Given the description of an element on the screen output the (x, y) to click on. 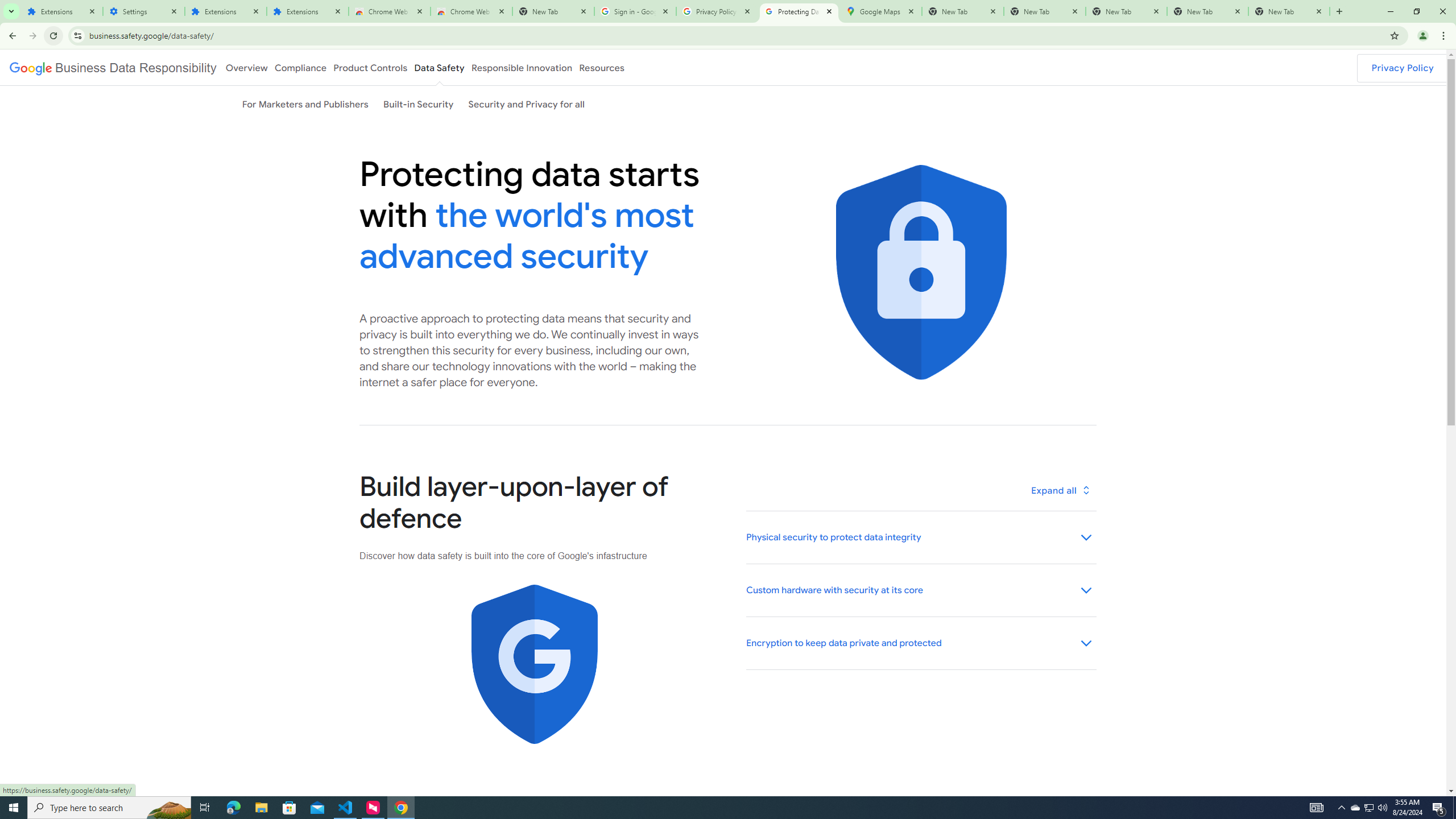
Physical security to protect data integrity (920, 537)
New Tab (1289, 11)
Data Safety (438, 67)
Built-in Security (418, 103)
Press to toggle all panels (1059, 490)
Compliance (300, 67)
Privacy Policy (1402, 68)
For Marketers and Publishers (304, 103)
Settings (143, 11)
New Tab (552, 11)
Sign in - Google Accounts (635, 11)
Blue shield showing Safer with Google (534, 663)
Chrome Web Store - Themes (470, 11)
